Given the description of an element on the screen output the (x, y) to click on. 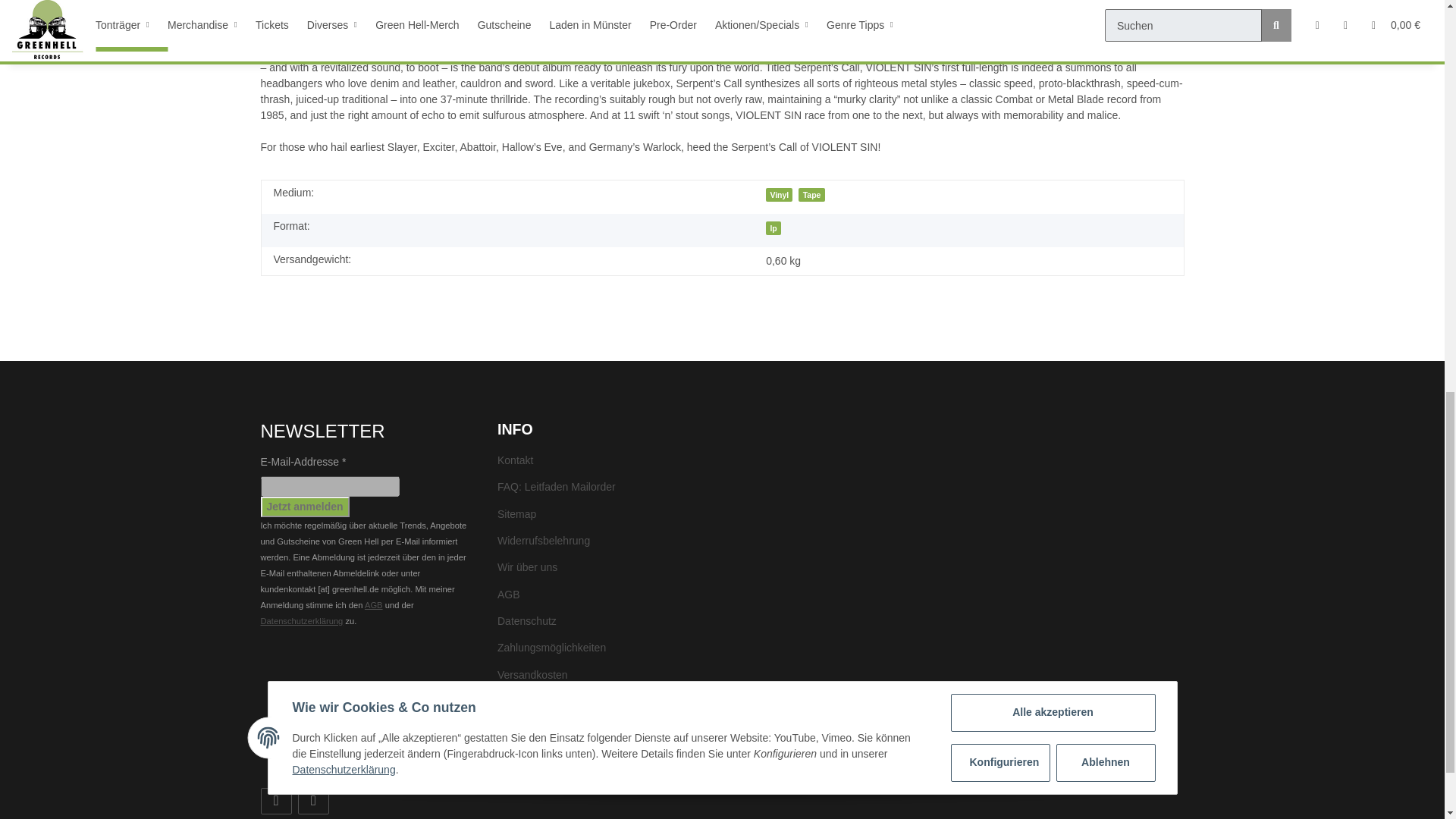
Jetzt anmelden (304, 506)
